Given the description of an element on the screen output the (x, y) to click on. 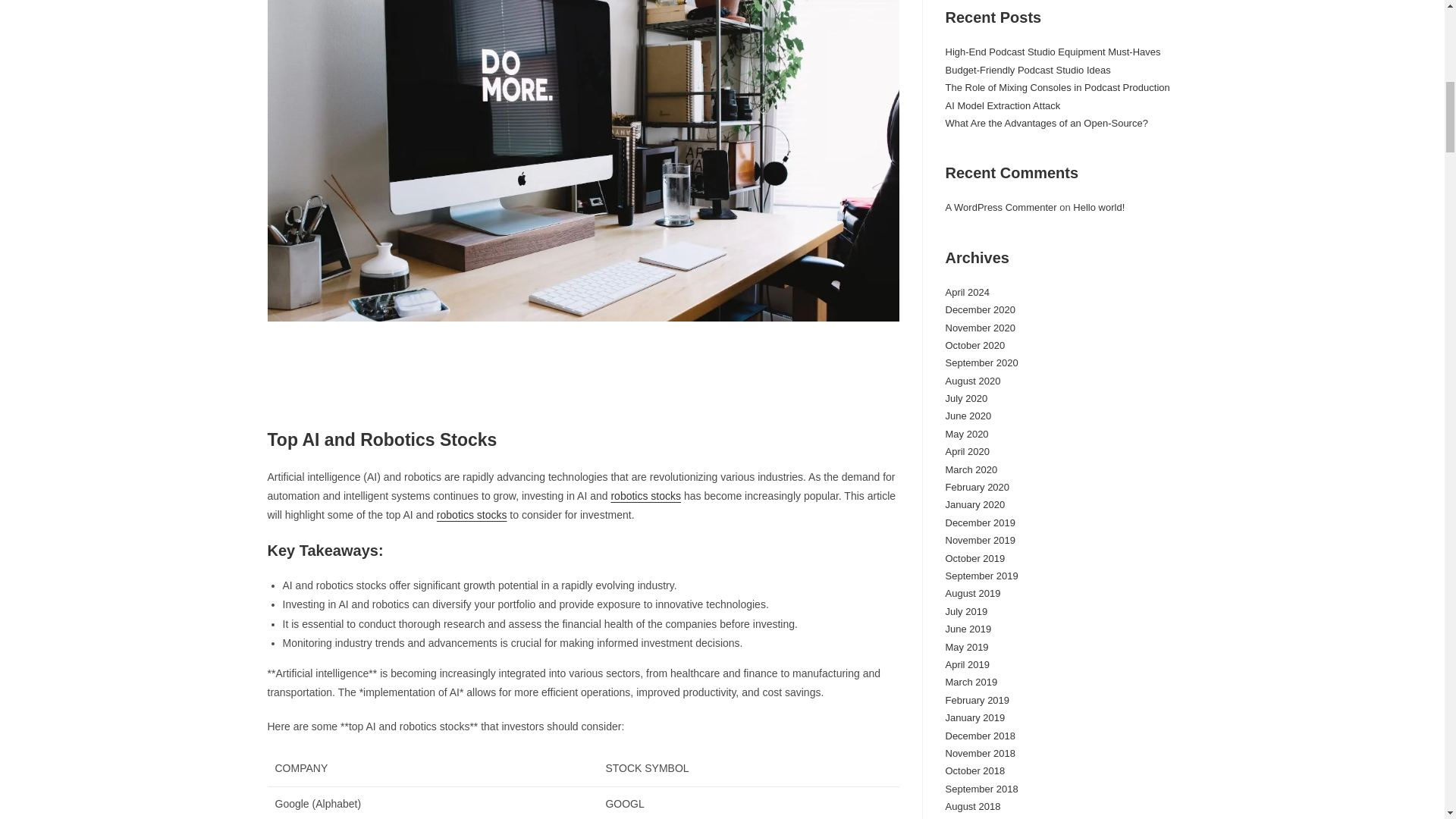
robotics stocks (471, 514)
robotics stocks (645, 495)
